Given the description of an element on the screen output the (x, y) to click on. 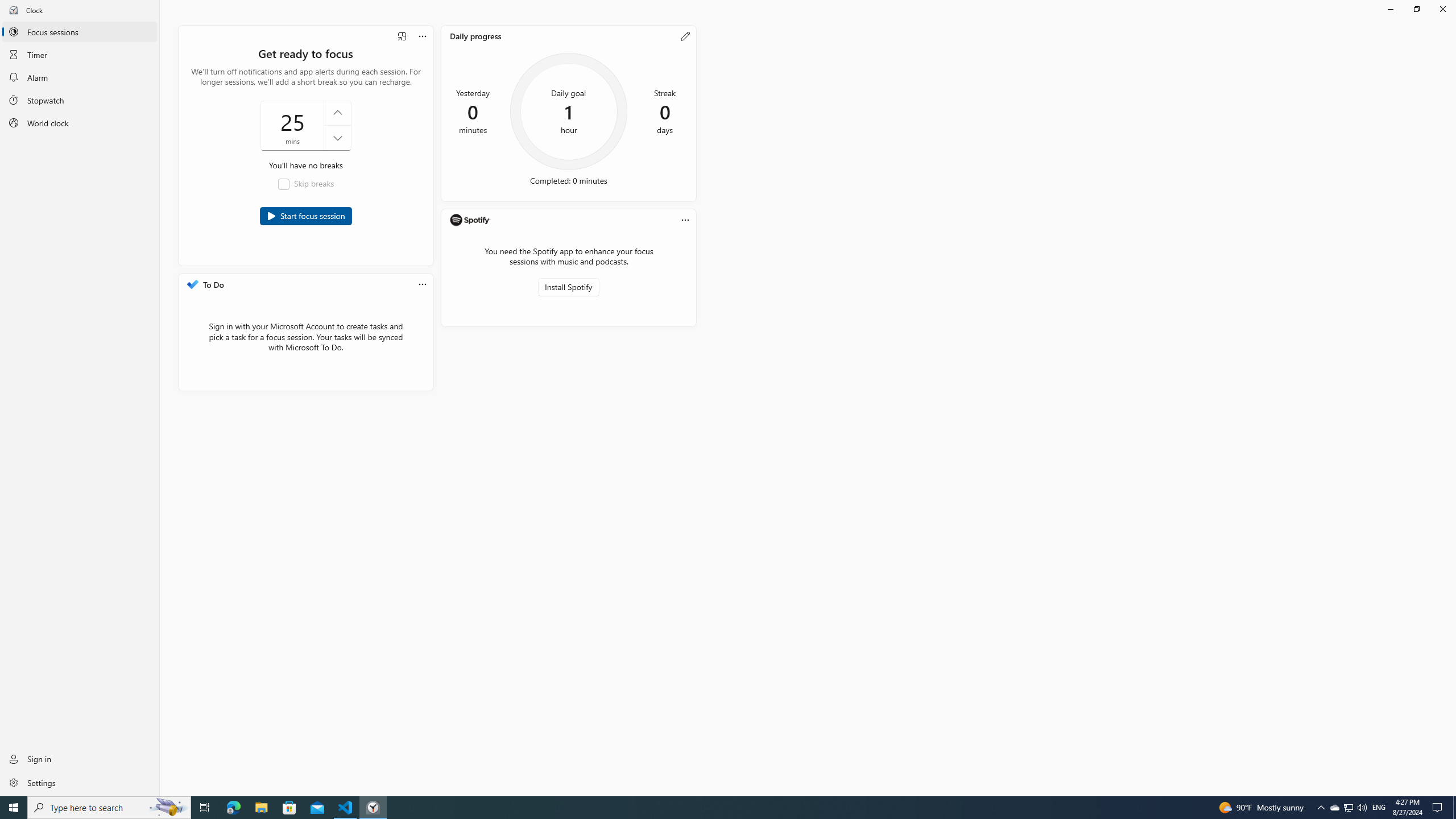
Install Spotify (568, 287)
Settings (79, 782)
Minimize Clock (1390, 9)
Stopwatch (79, 100)
World clock (79, 122)
Duration of focus session in minutes (305, 125)
Close Clock (1442, 9)
Timer (79, 54)
